Given the description of an element on the screen output the (x, y) to click on. 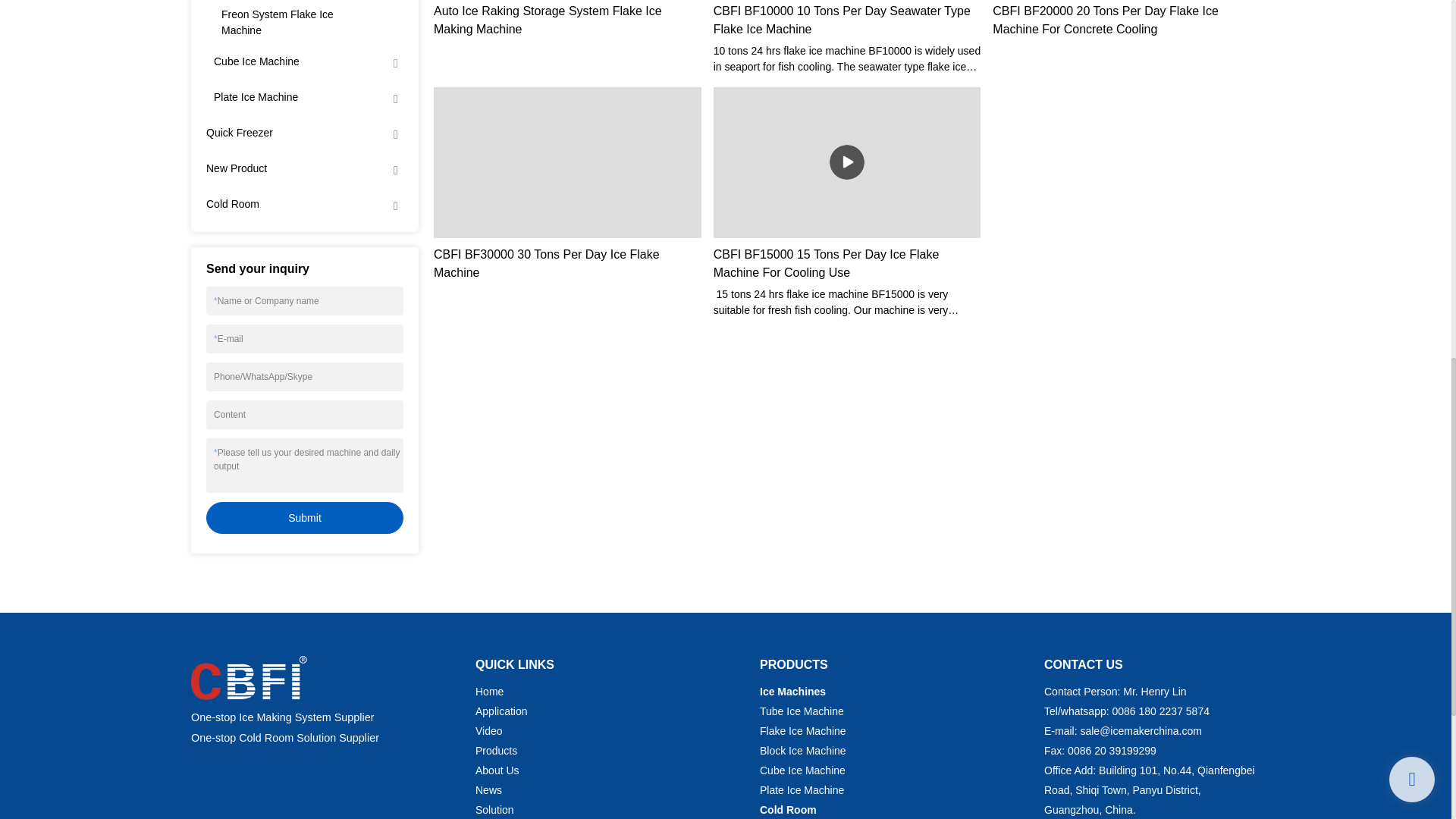
CBFI BF10000 10 Tons Per Day Seawater Type Flake Ice Machine (847, 20)
Auto Ice Raking Storage System Flake Ice Making Machine (567, 20)
CBFI BF30000 30 Tons Per Day Ice Flake Machine (567, 263)
